Given the description of an element on the screen output the (x, y) to click on. 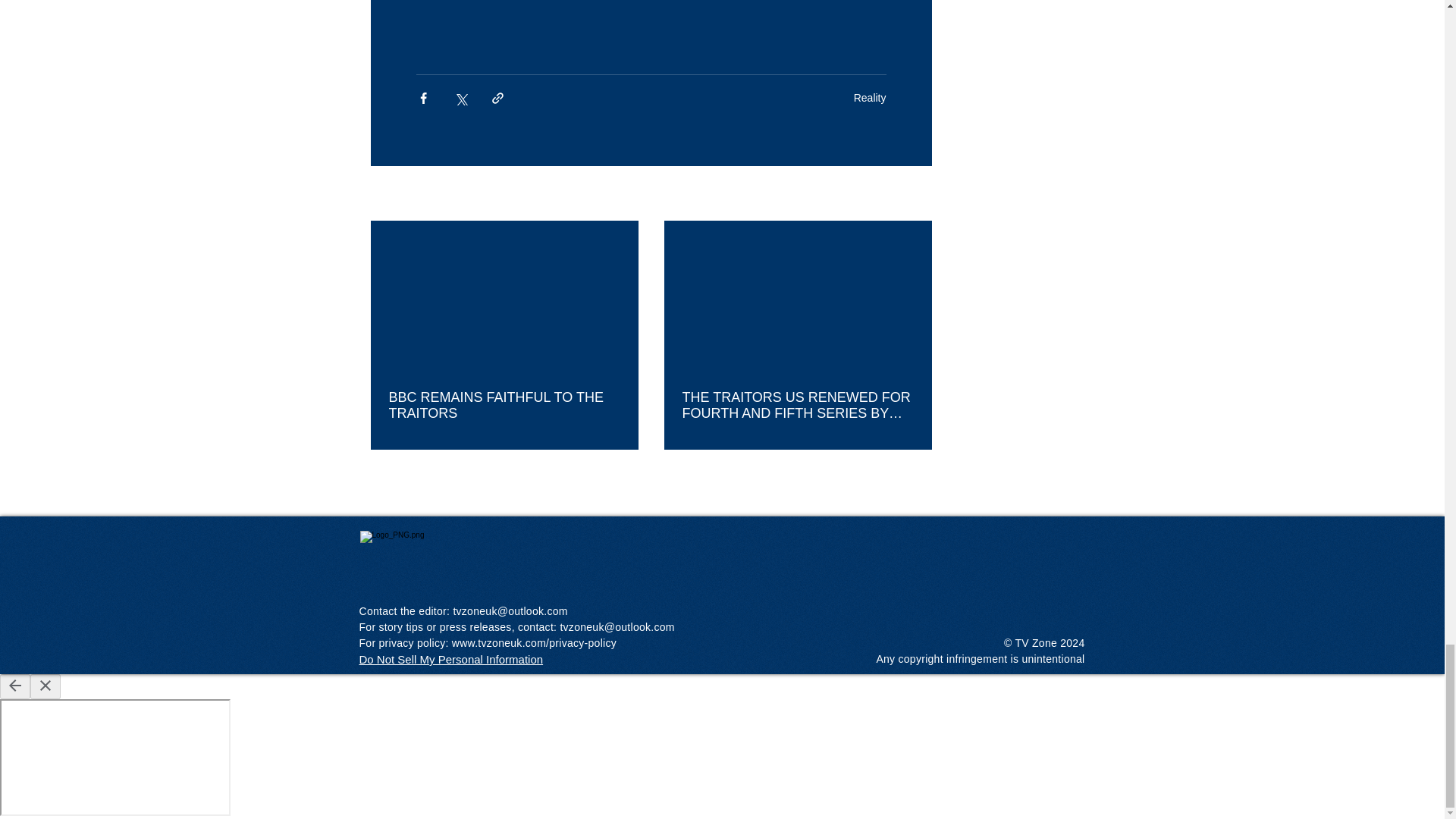
BBC REMAINS FAITHFUL TO THE TRAITORS (504, 405)
Reality (869, 97)
See All (914, 194)
